Given the description of an element on the screen output the (x, y) to click on. 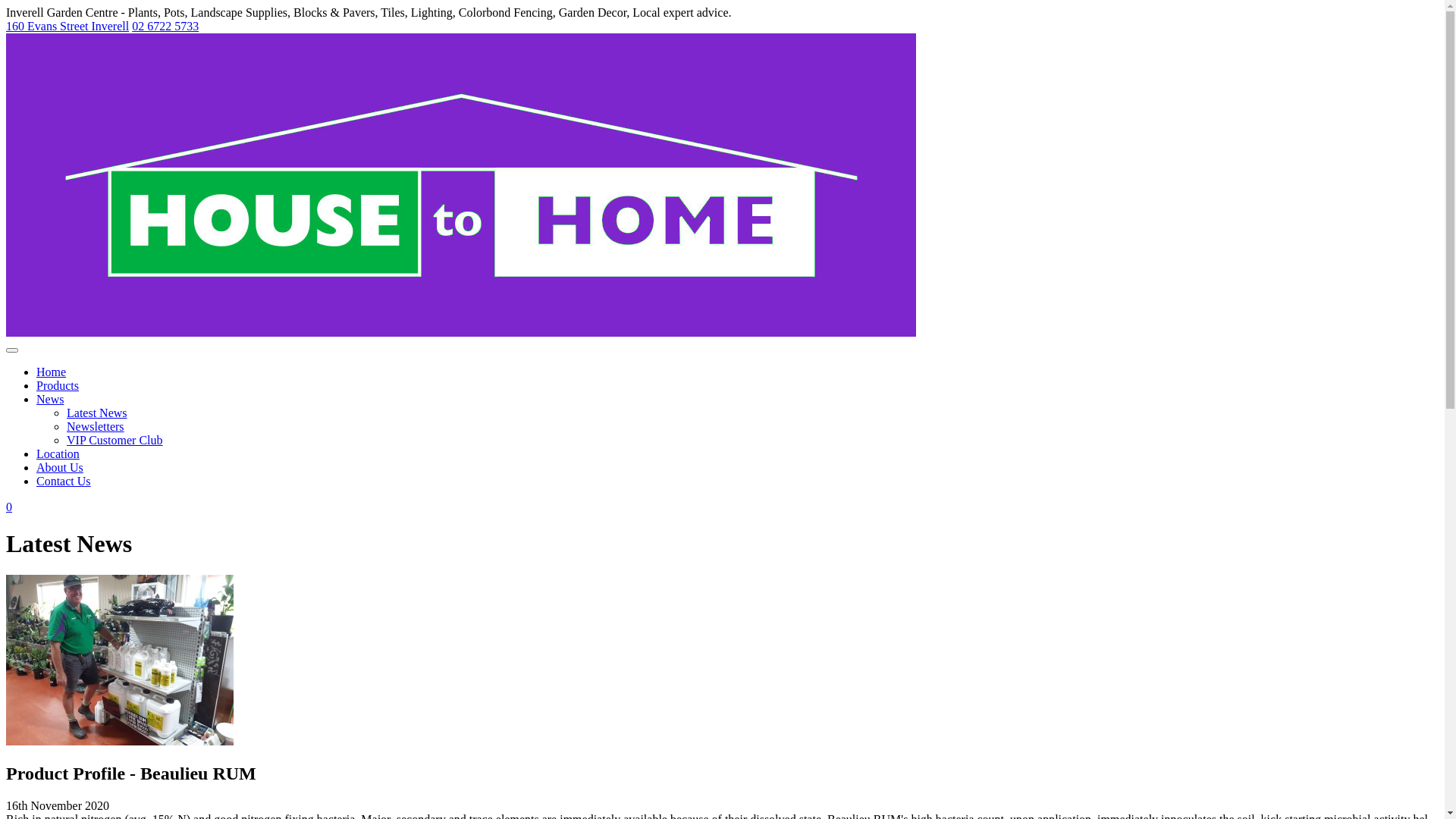
160 Evans Street Inverell Element type: text (67, 25)
Contact Us Element type: text (63, 480)
0 Element type: text (722, 507)
Home Element type: text (50, 371)
read more Element type: hover (119, 740)
VIP Customer Club Element type: text (114, 439)
Newsletters Element type: text (95, 426)
Location Element type: text (57, 453)
Products Element type: text (57, 385)
02 6722 5733 Element type: text (164, 25)
News Element type: text (49, 398)
About Us Element type: text (59, 467)
Latest News Element type: text (96, 412)
